Given the description of an element on the screen output the (x, y) to click on. 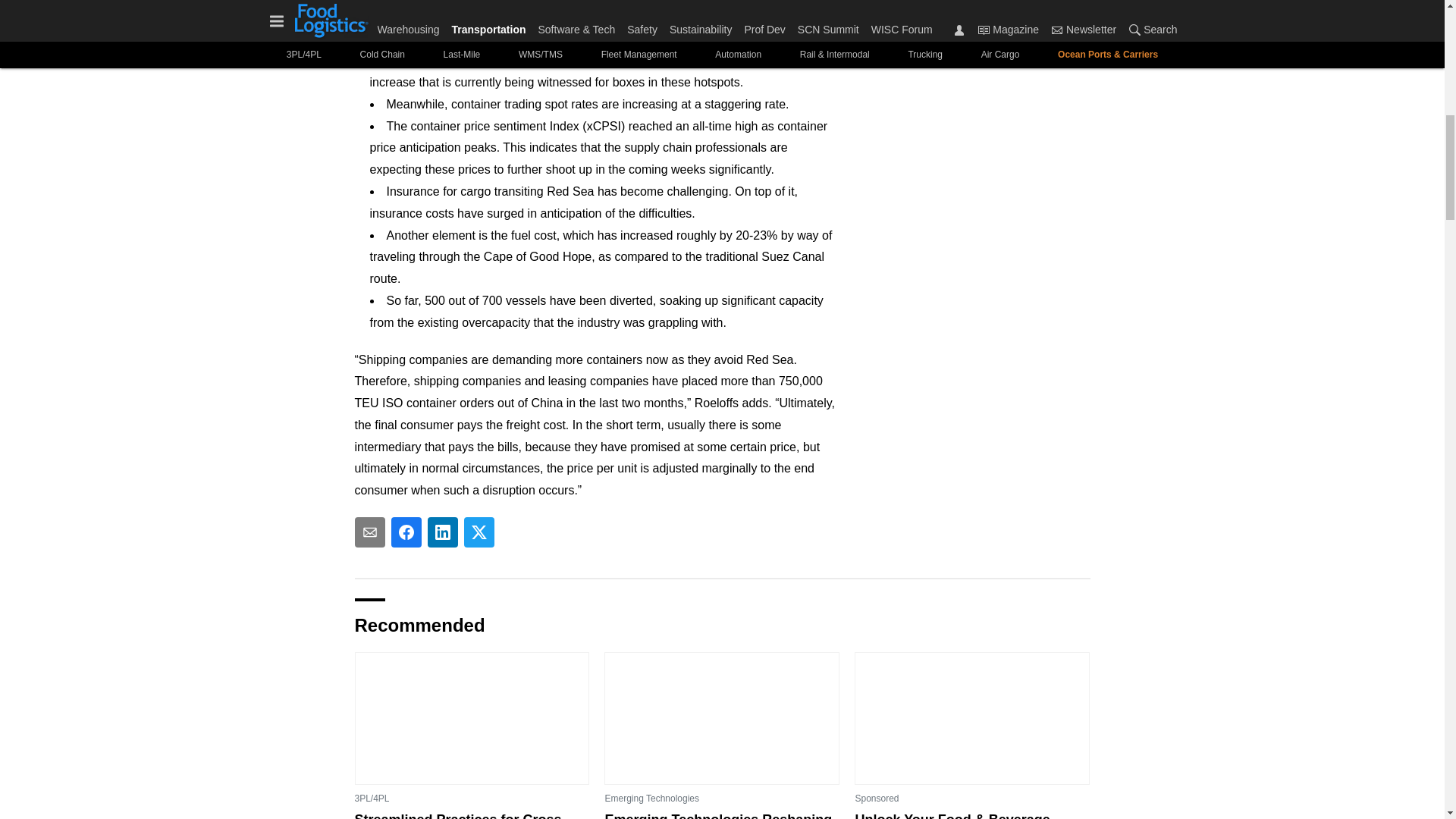
Share To twitter (479, 531)
Share To email (370, 531)
Share To linkedin (443, 531)
Share To facebook (406, 531)
